Given the description of an element on the screen output the (x, y) to click on. 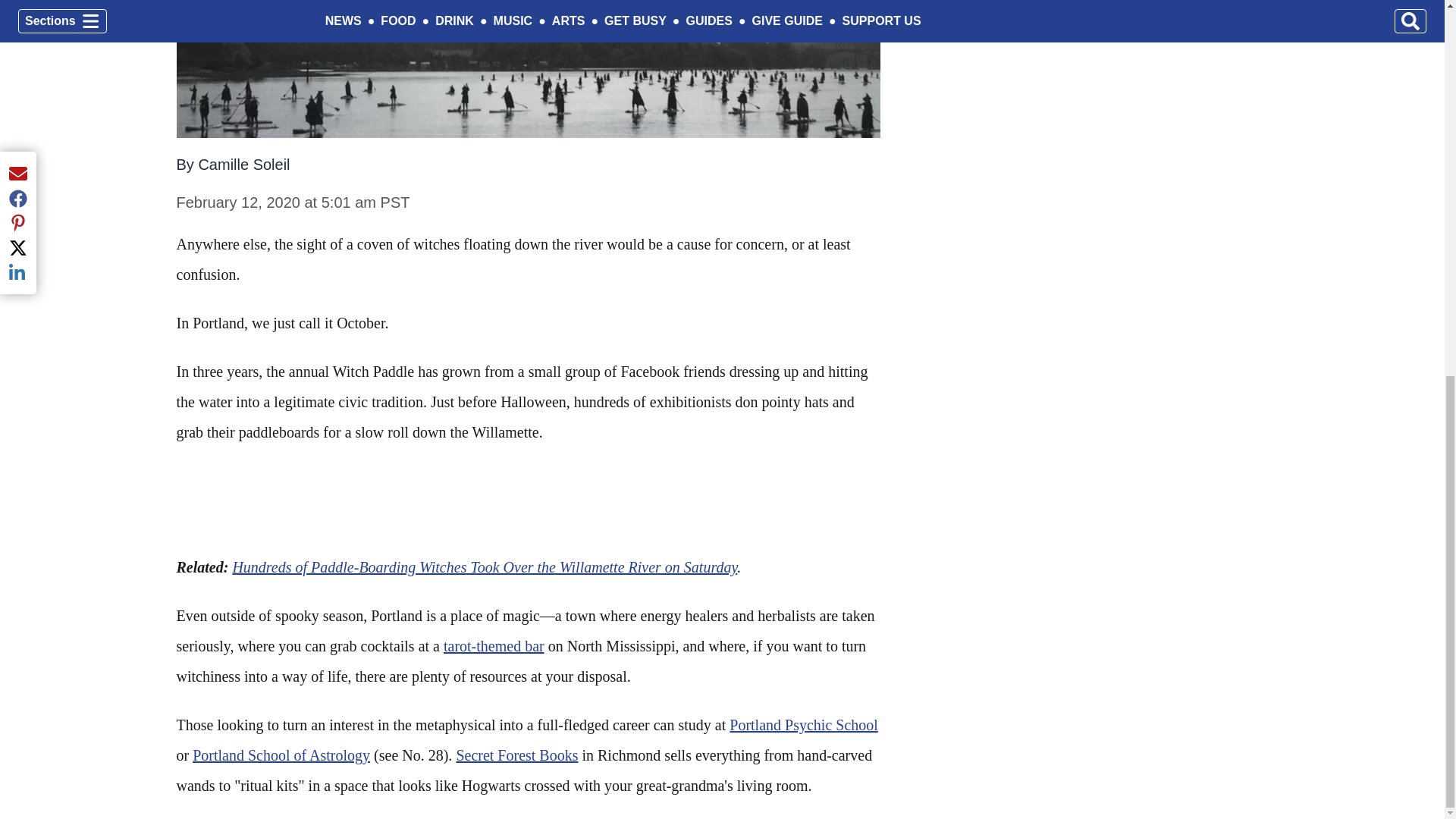
Portland School of Astrology (280, 754)
Portland Psychic School (803, 724)
tarot-themed bar (494, 646)
Secret Forest Books (516, 754)
